Given the description of an element on the screen output the (x, y) to click on. 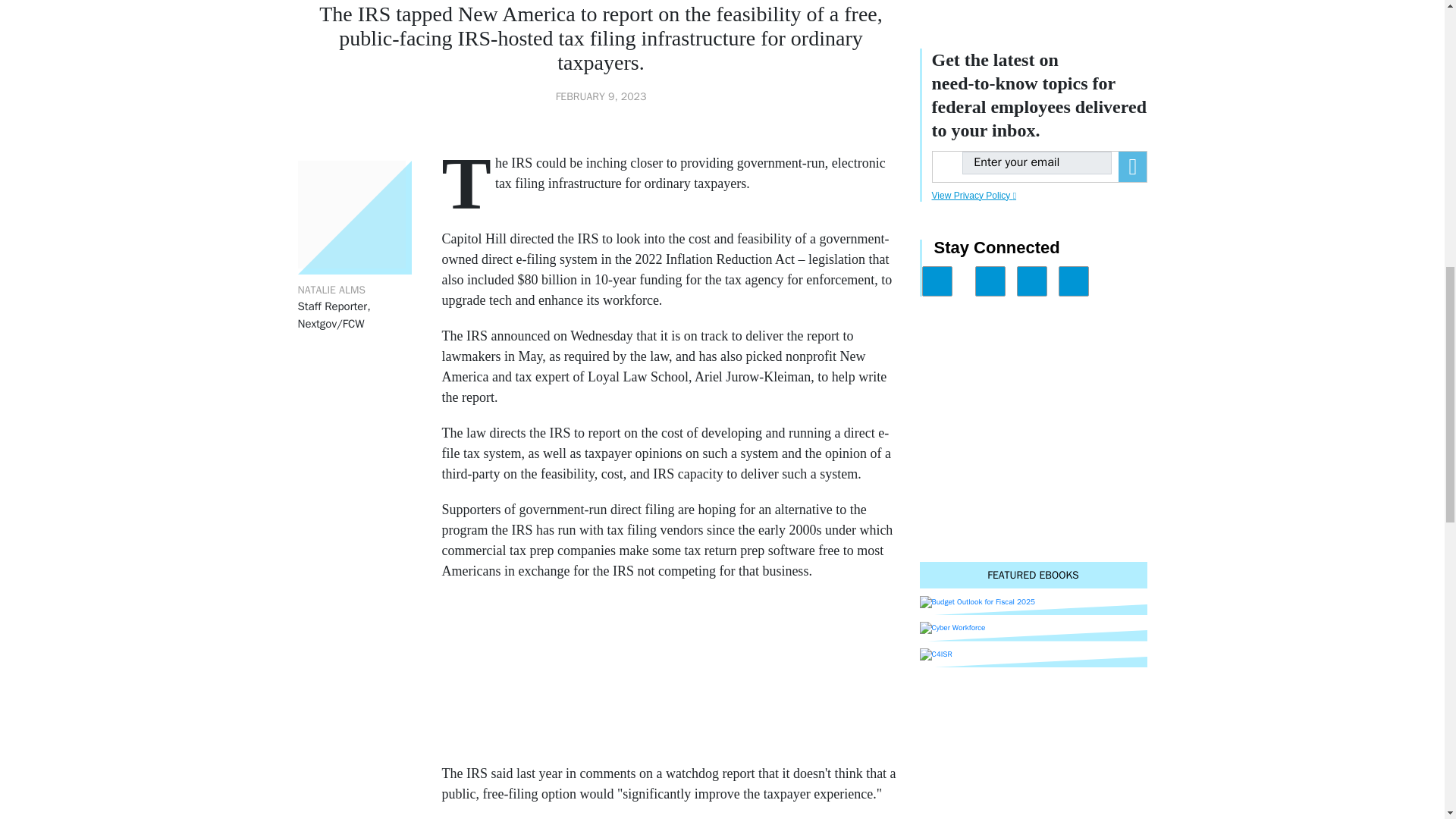
Embed Player (672, 669)
